Given the description of an element on the screen output the (x, y) to click on. 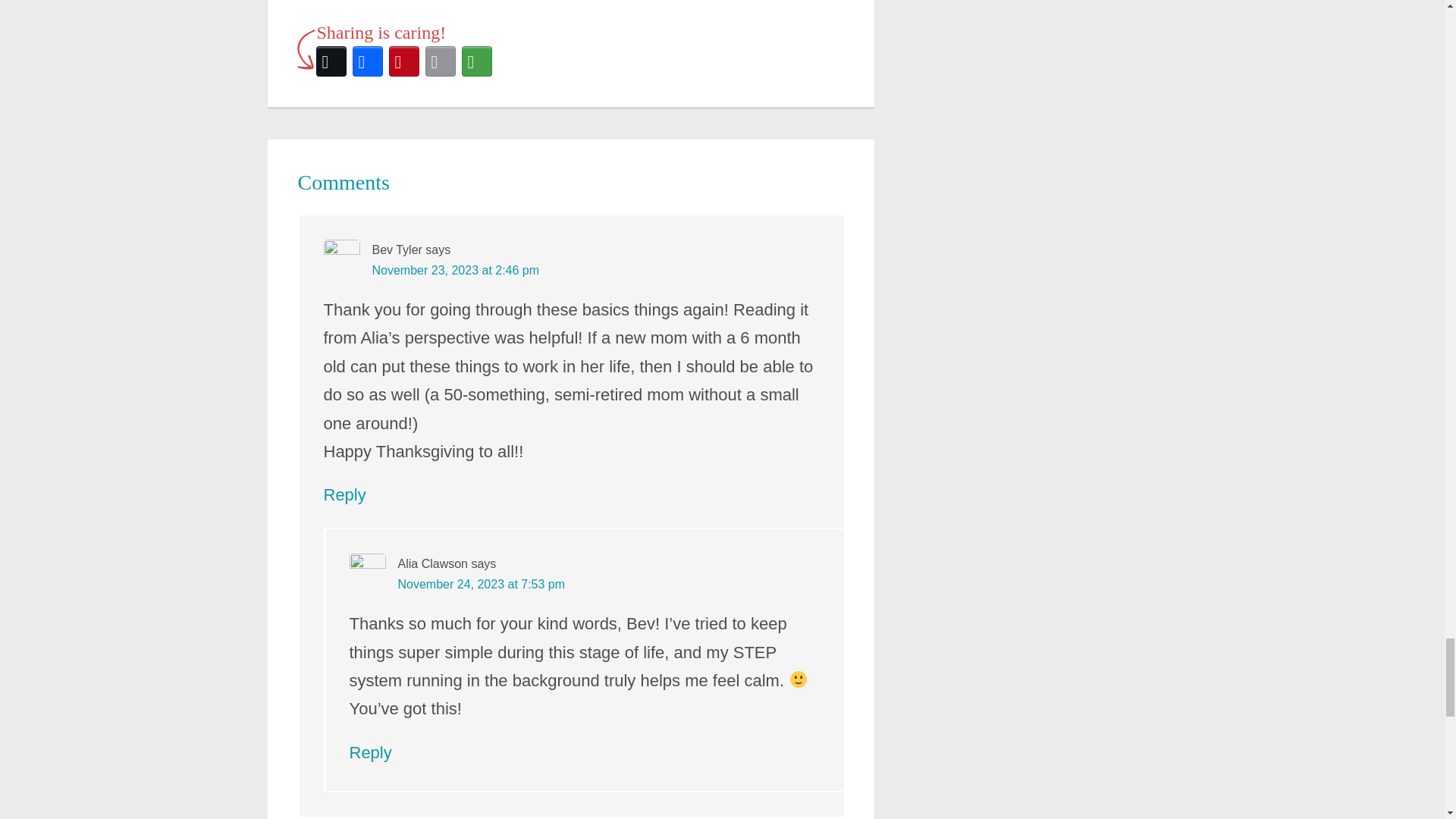
Facebook (367, 61)
November 24, 2023 at 7:53 pm (480, 584)
Email This (440, 61)
November 23, 2023 at 2:46 pm (454, 269)
Pinterest (403, 61)
Reply (370, 752)
Reply (344, 494)
More Options (476, 61)
